Given the description of an element on the screen output the (x, y) to click on. 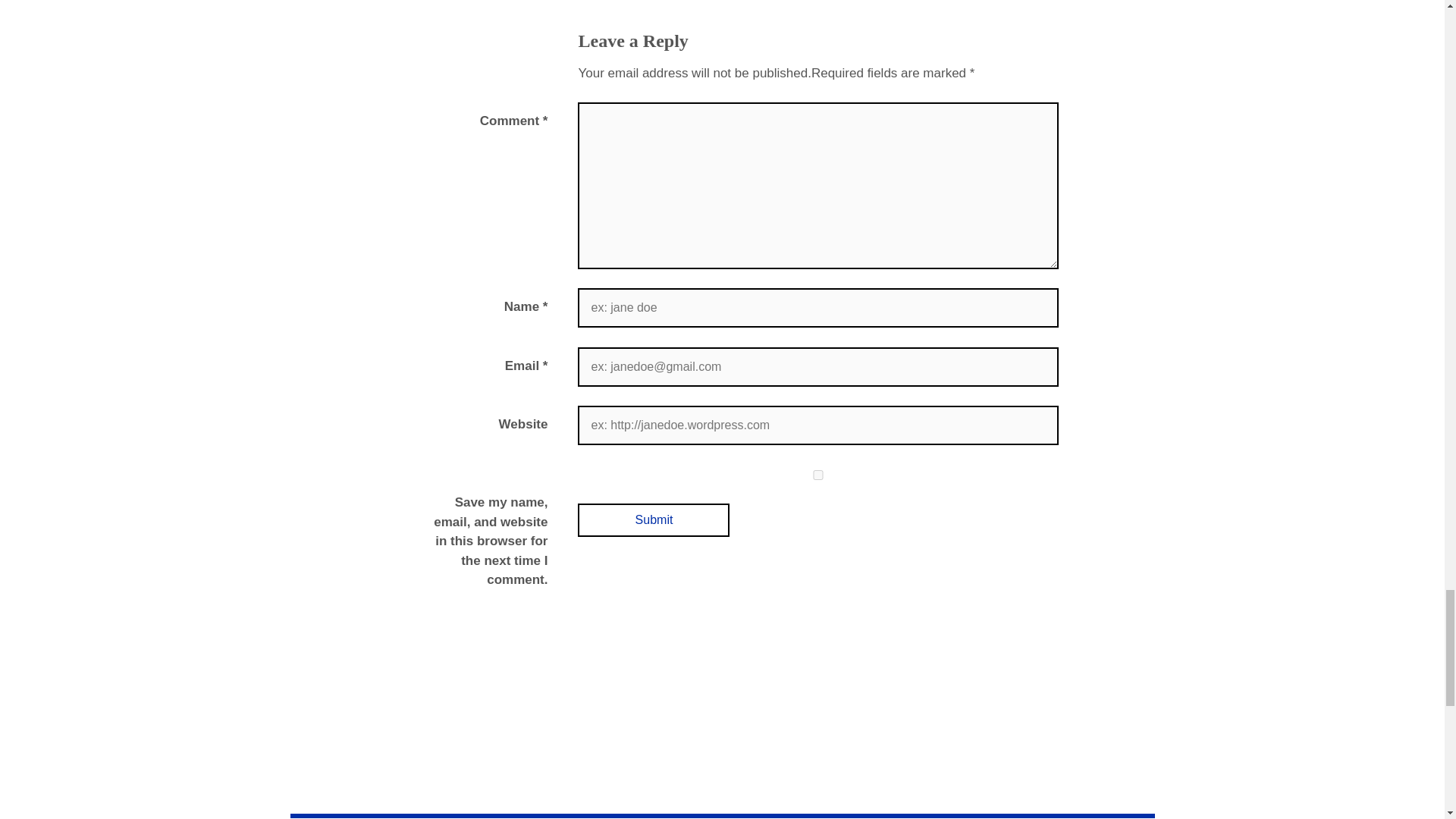
yes (818, 474)
Submit (653, 520)
